Given the description of an element on the screen output the (x, y) to click on. 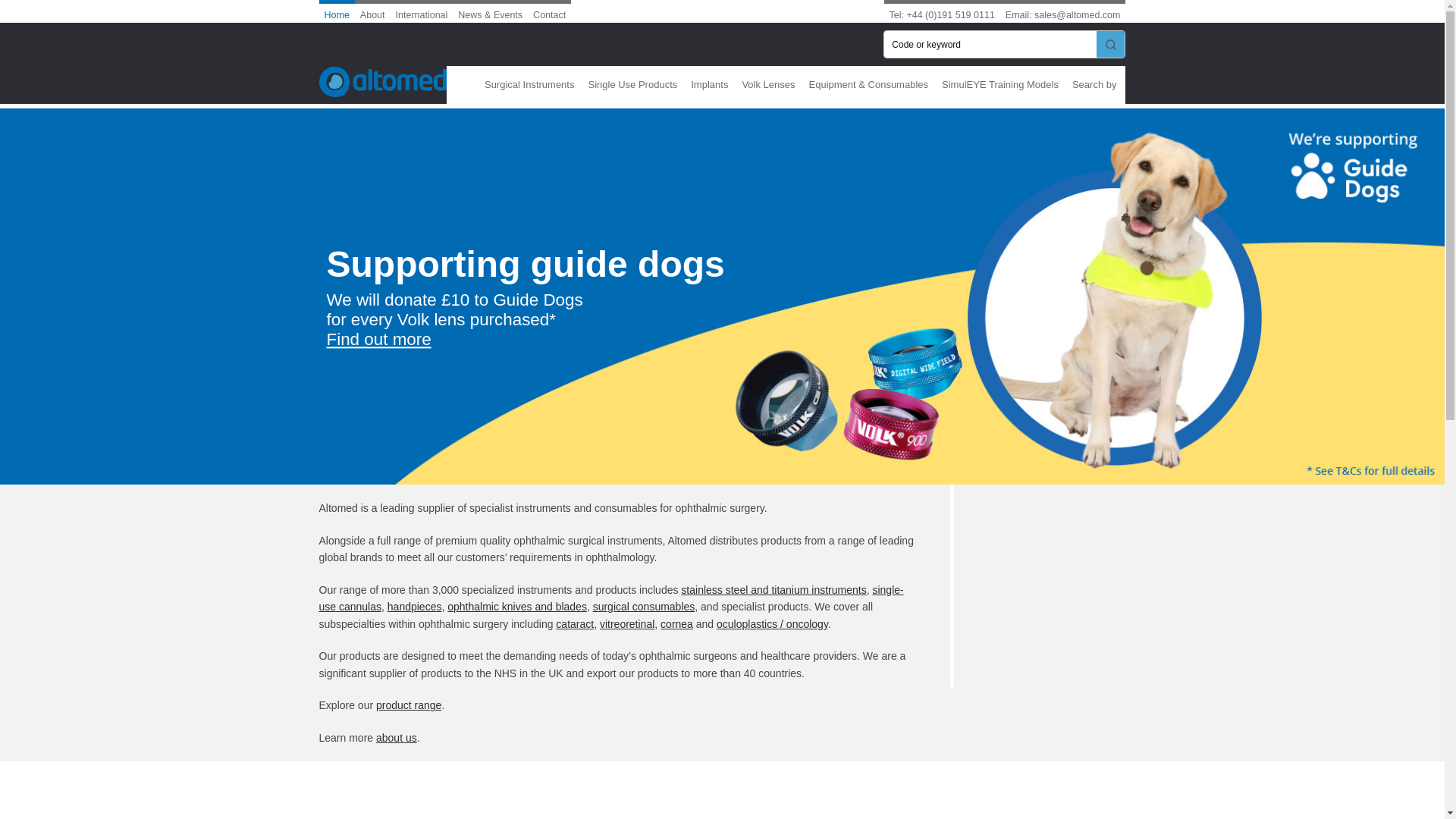
Go (1110, 44)
Home (336, 11)
Sterimedix (521, 803)
Contact (548, 11)
About (372, 11)
International (421, 11)
Code or keyword (989, 44)
Surgical Instruments (531, 85)
Volk (656, 803)
Code or keyword (989, 44)
Simuleye (386, 803)
